Given the description of an element on the screen output the (x, y) to click on. 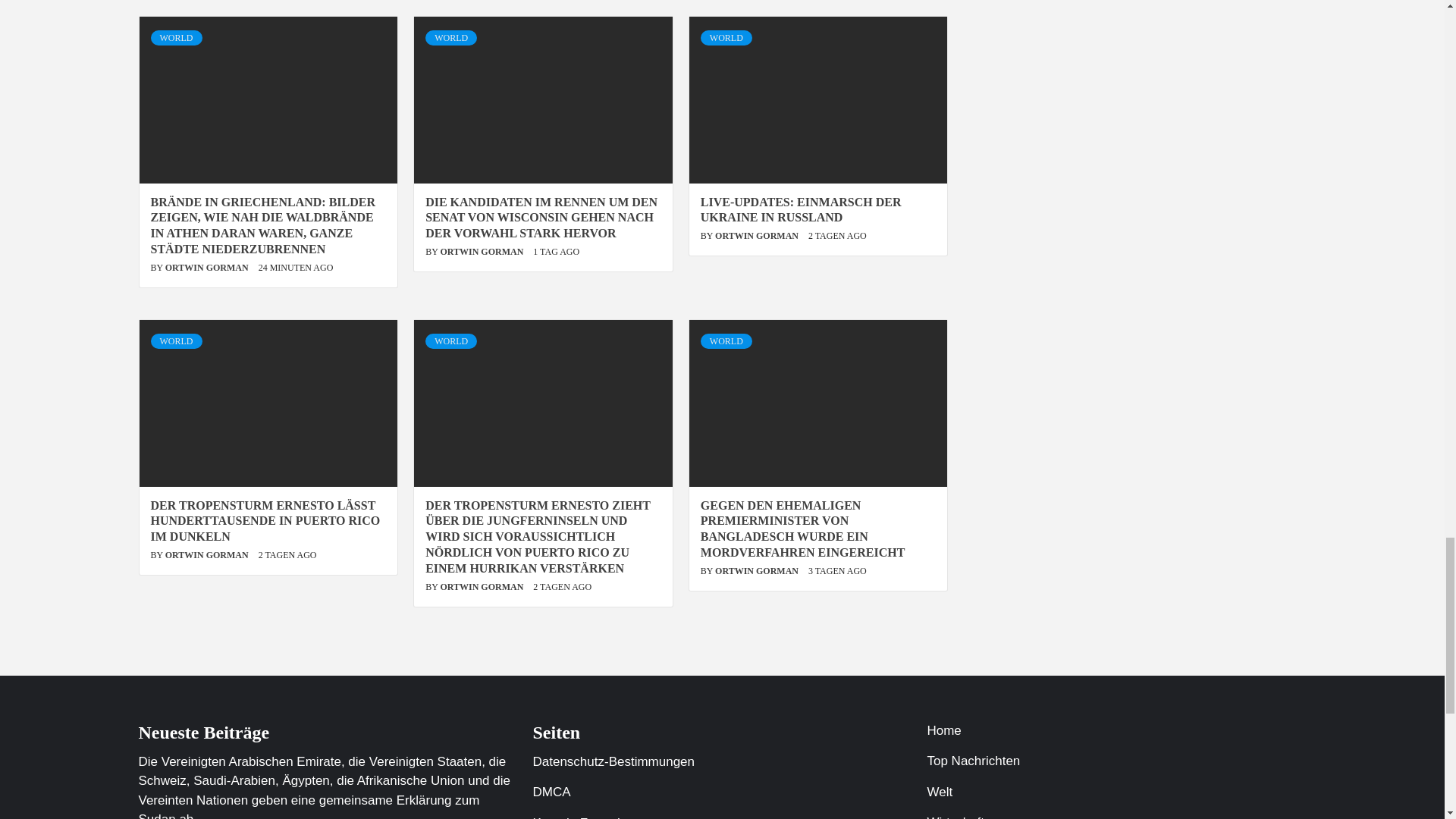
ORTWIN GORMAN (757, 235)
WORLD (726, 37)
ORTWIN GORMAN (482, 251)
WORLD (451, 37)
ORTWIN GORMAN (207, 267)
WORLD (175, 37)
LIVE-UPDATES: EINMARSCH DER UKRAINE IN RUSSLAND (800, 209)
